Given the description of an element on the screen output the (x, y) to click on. 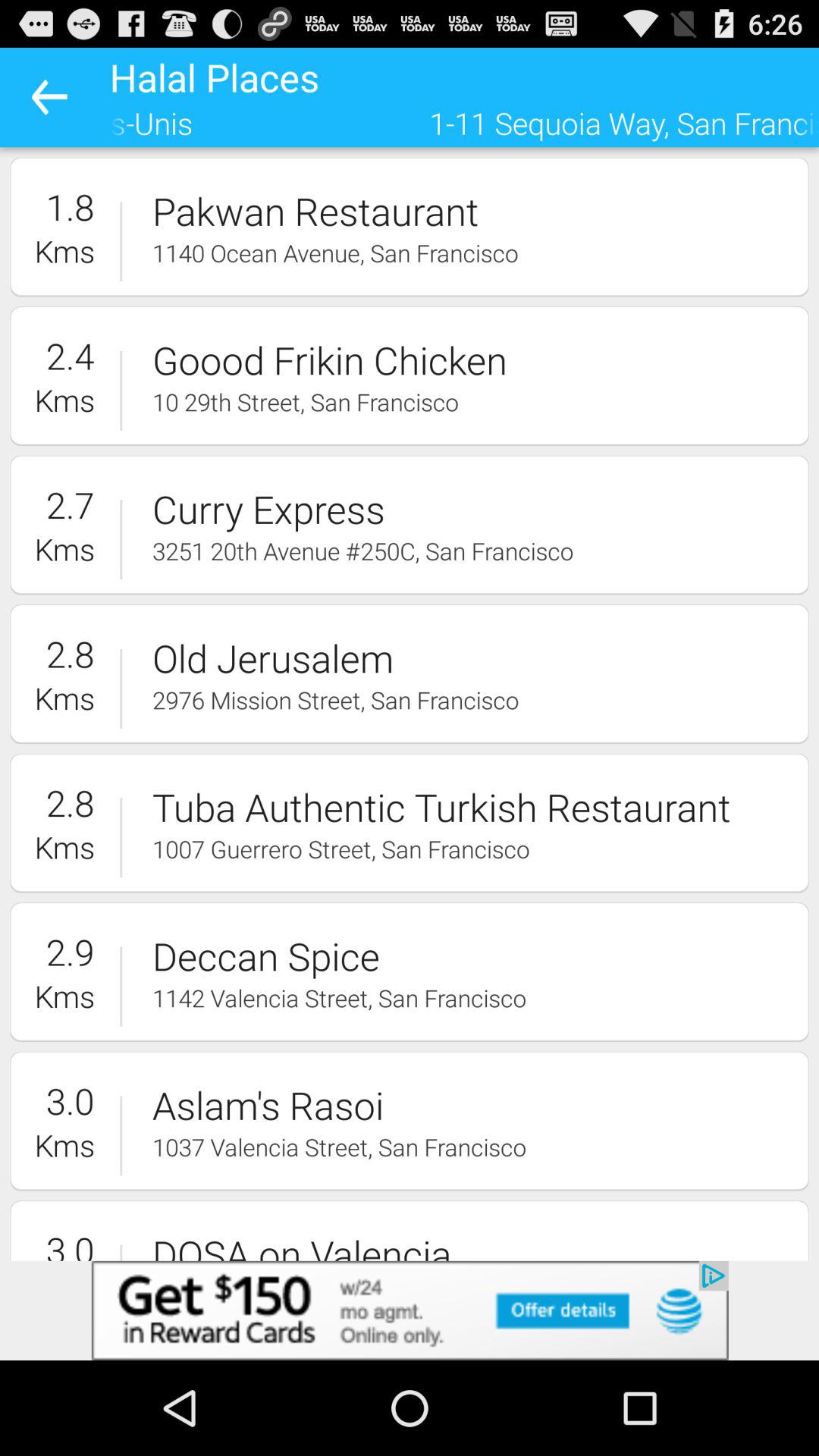
qibla connect find direction- prayer azan quran (409, 1310)
